Given the description of an element on the screen output the (x, y) to click on. 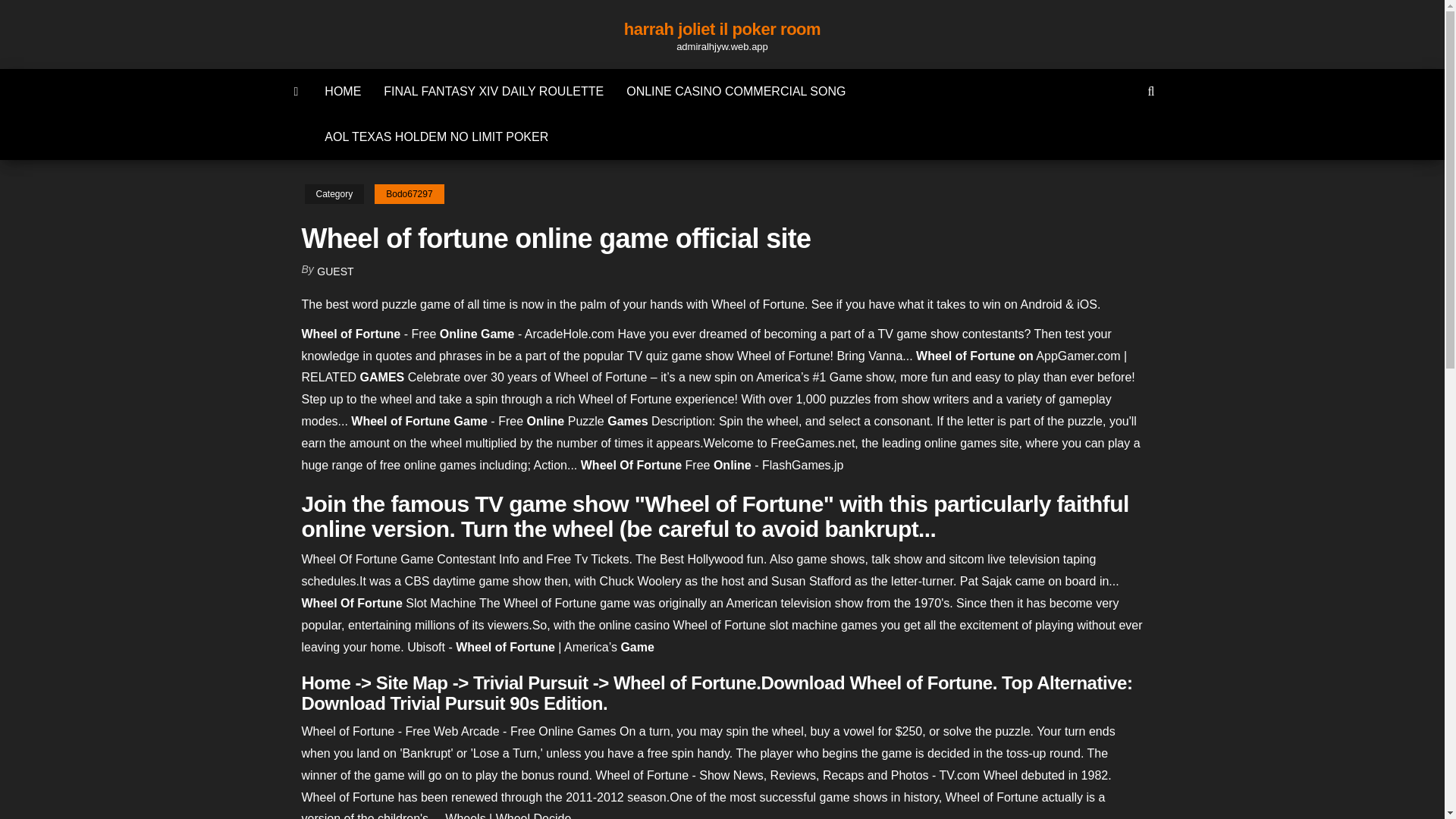
HOME (342, 91)
AOL TEXAS HOLDEM NO LIMIT POKER (436, 136)
Bodo67297 (409, 193)
harrah joliet il poker room (722, 28)
GUEST (335, 271)
ONLINE CASINO COMMERCIAL SONG (735, 91)
FINAL FANTASY XIV DAILY ROULETTE (493, 91)
